Given the description of an element on the screen output the (x, y) to click on. 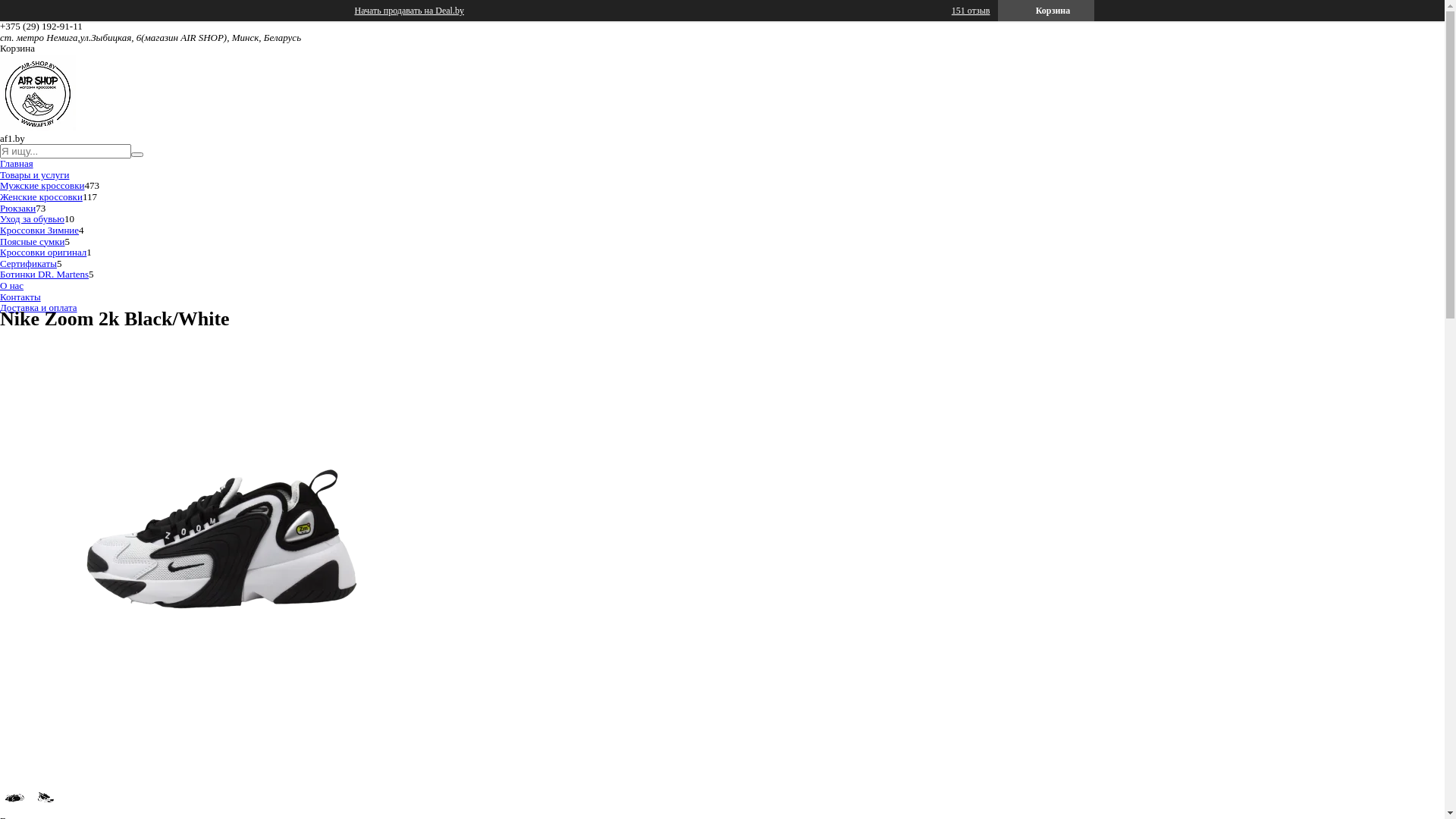
af1.by Element type: hover (37, 126)
